Given the description of an element on the screen output the (x, y) to click on. 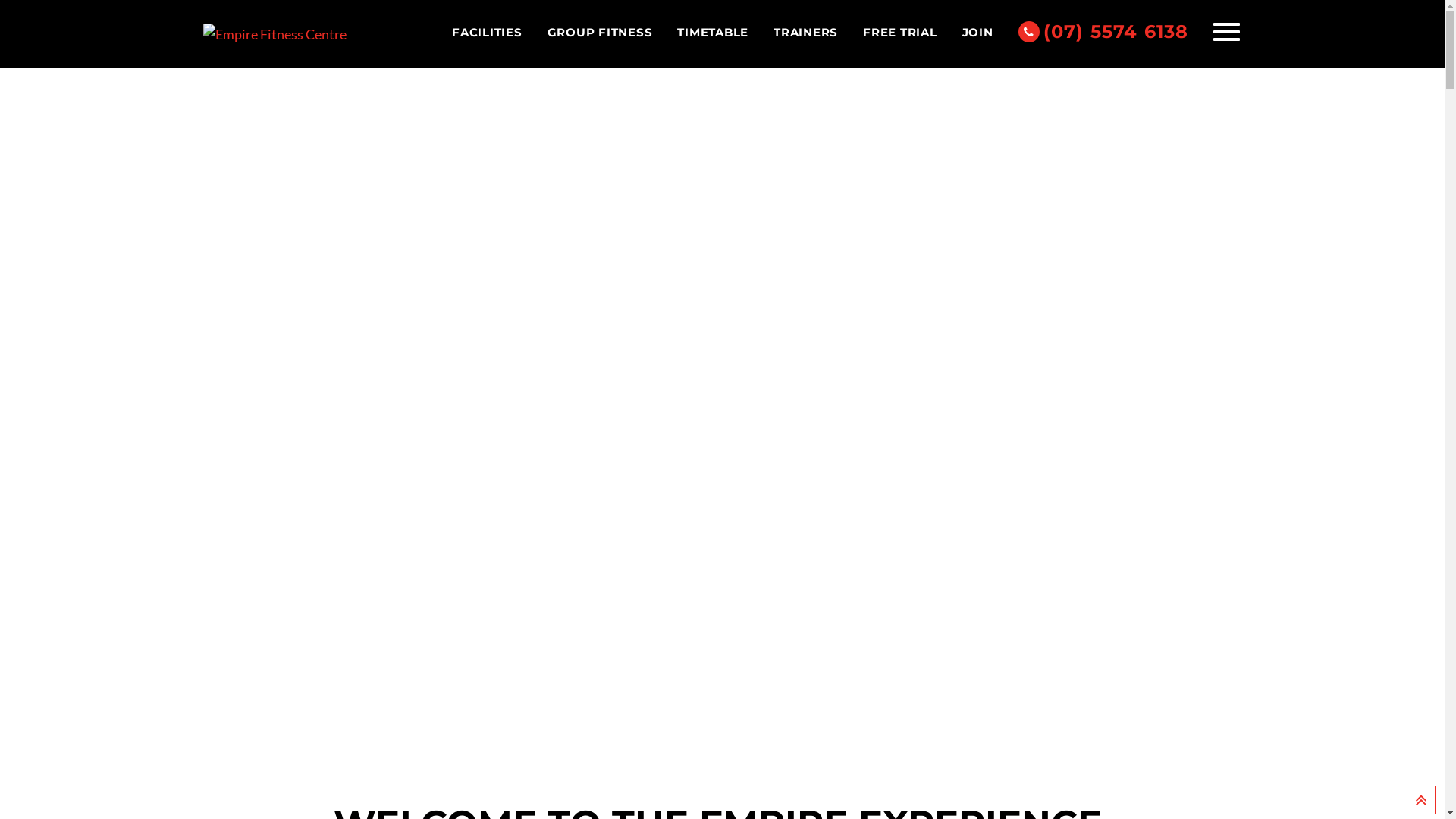
FACILITIES Element type: text (486, 32)
GROUP FITNESS Element type: text (600, 32)
JOIN Element type: text (977, 32)
TRAINERS Element type: text (805, 32)
FREE TRIAL Element type: text (899, 32)
(07) 5574 6138 Element type: text (1103, 31)
TIMETABLE Element type: text (712, 32)
